Given the description of an element on the screen output the (x, y) to click on. 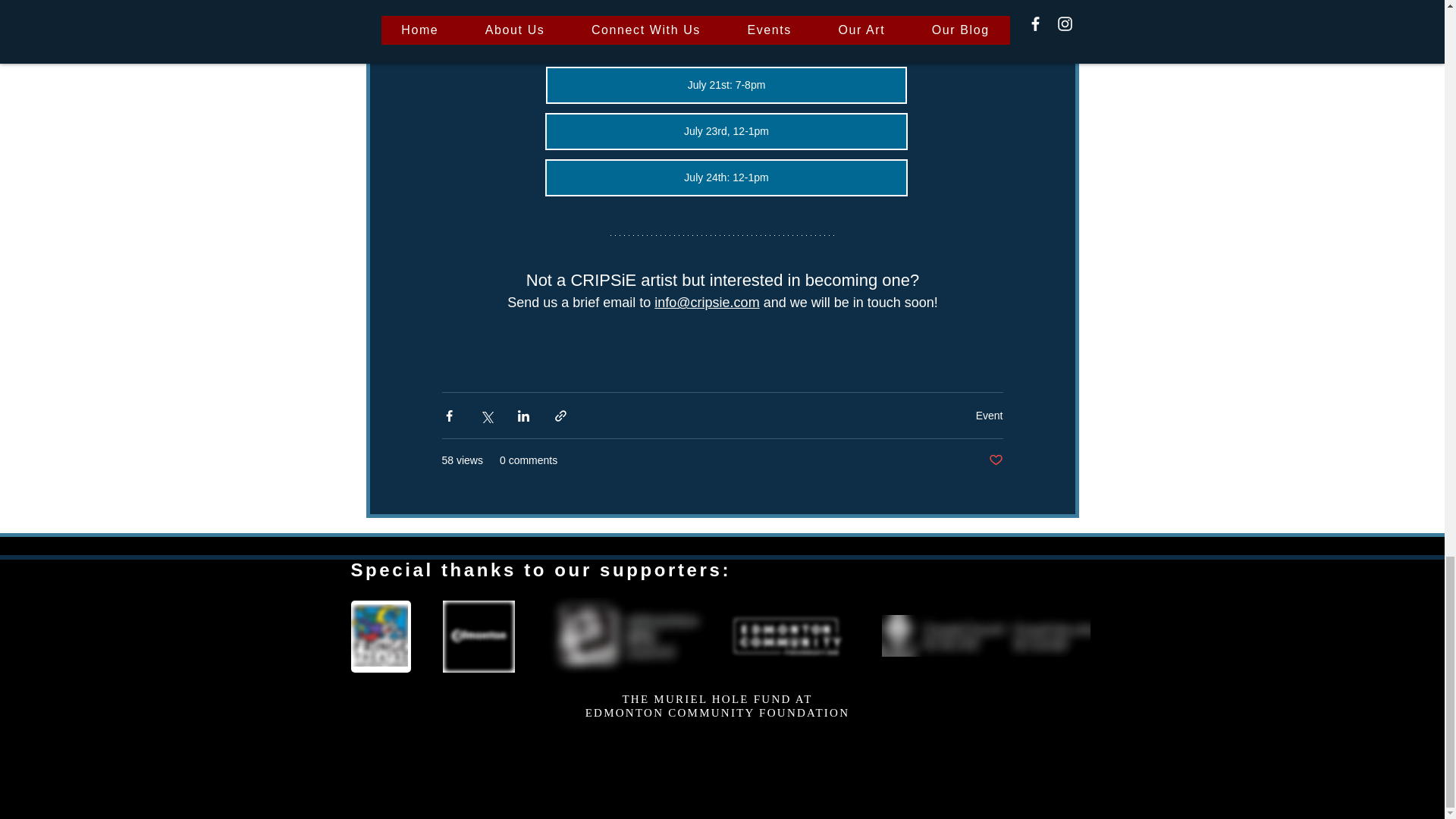
July 19th: 7-8pm (726, 38)
July 23rd, 12-1pm (725, 131)
July 24th: 12-1pm (725, 177)
Post not marked as liked (995, 460)
Event (989, 415)
July 21st: 7-8pm (726, 85)
